Given the description of an element on the screen output the (x, y) to click on. 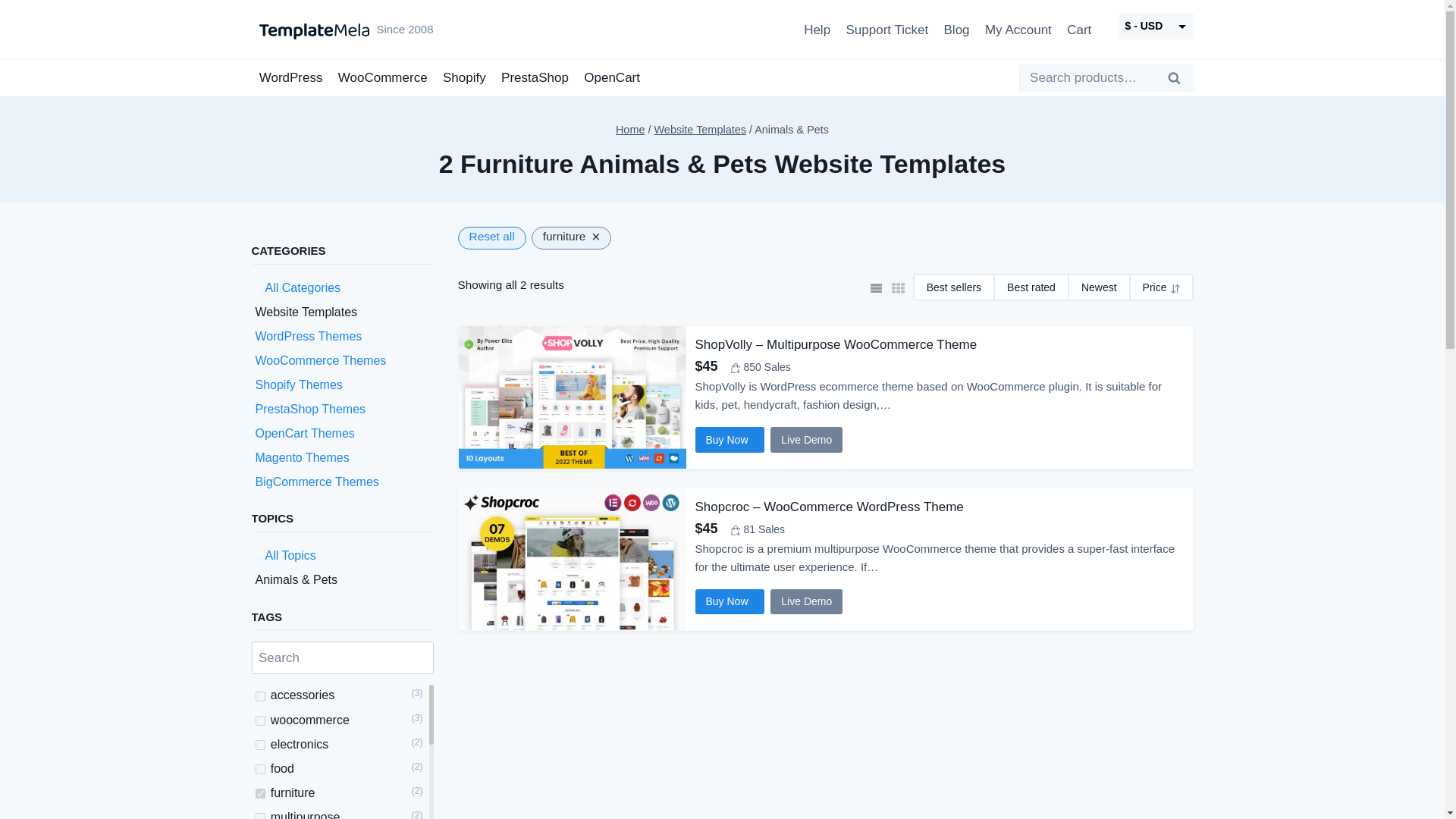
Shopify (464, 77)
Support Ticket (887, 29)
WooCommerce (382, 77)
Home (630, 129)
List View (875, 287)
Shopify Themes (298, 384)
WordPress Themes (307, 336)
on (260, 745)
OpenCart Themes (303, 432)
WooCommerce Themes (319, 359)
Search (1177, 77)
OpenCart (611, 77)
Grid View (897, 287)
Reset all (491, 237)
Magento Themes (301, 457)
